Given the description of an element on the screen output the (x, y) to click on. 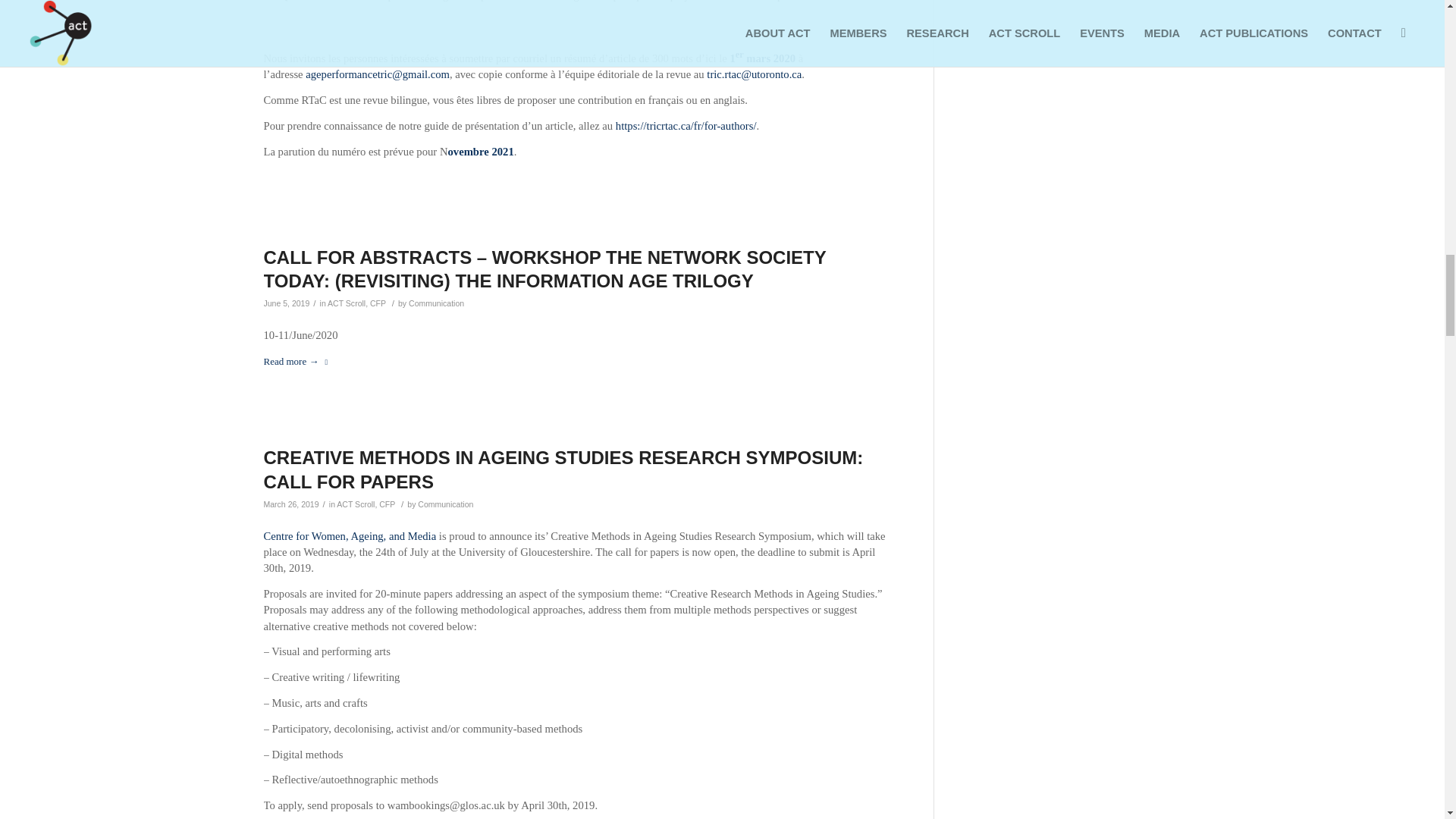
Posts by Communication (436, 302)
Posts by Communication (445, 503)
